Given the description of an element on the screen output the (x, y) to click on. 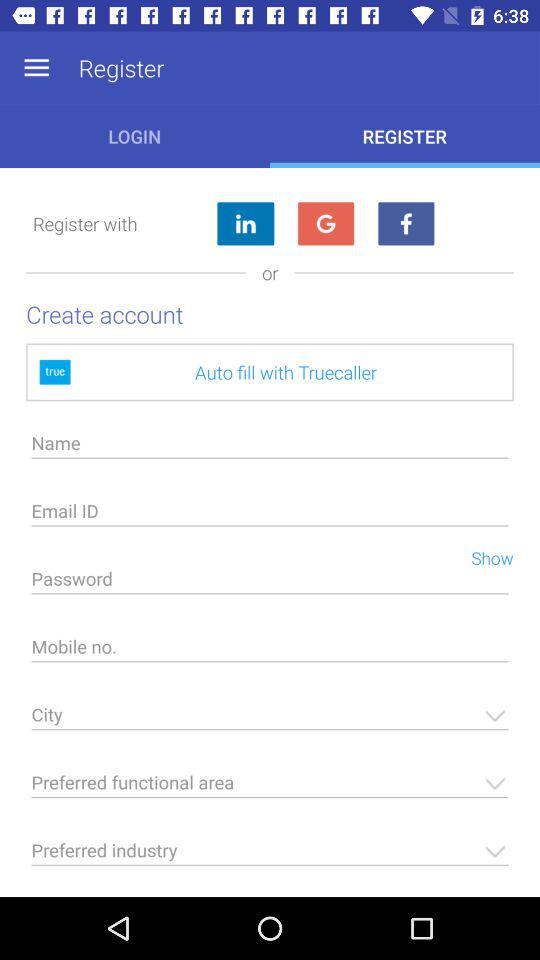
open the icon below register icon (325, 223)
